Given the description of an element on the screen output the (x, y) to click on. 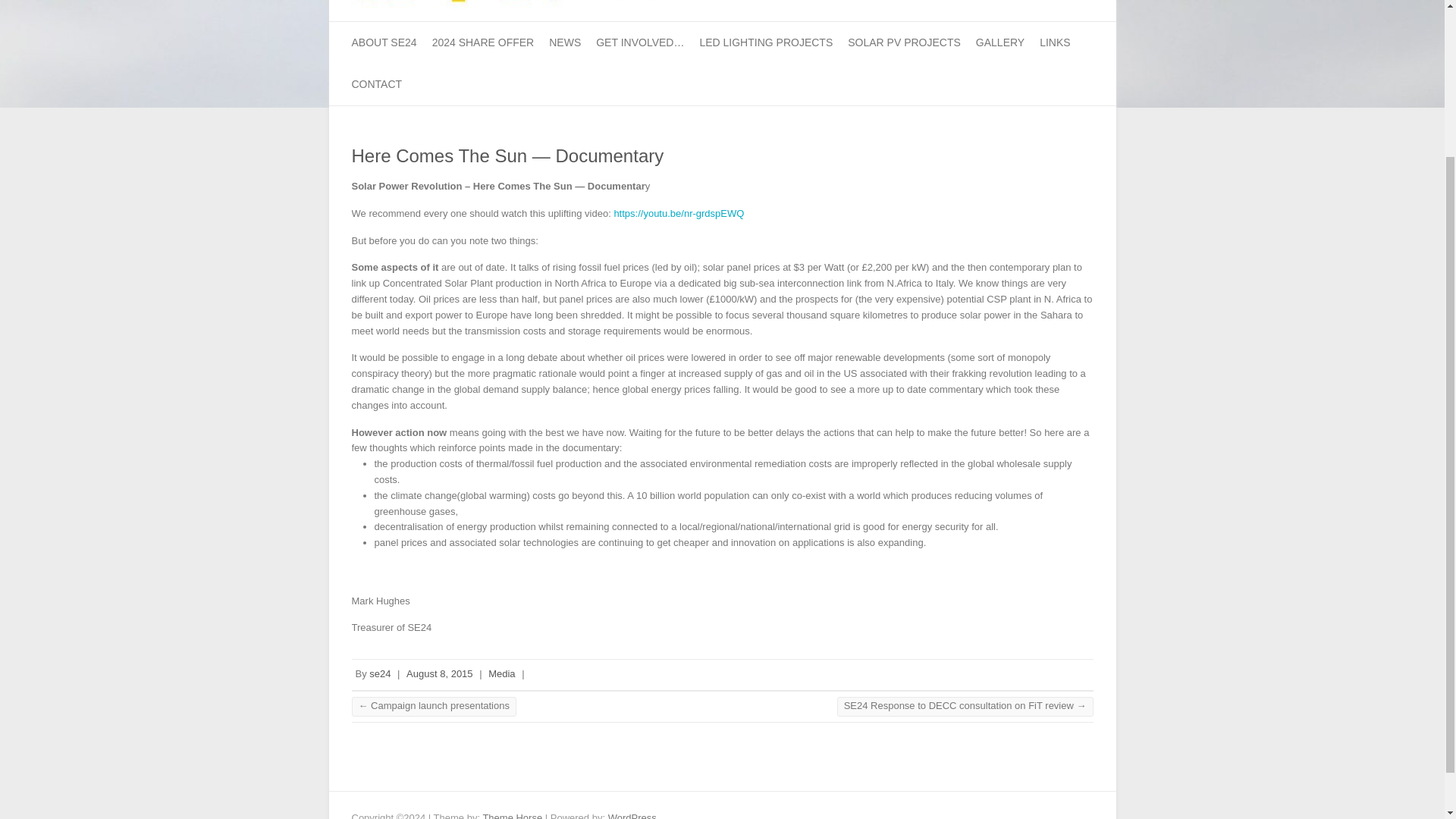
SOLAR PV PROJECTS (903, 42)
CONTACT (377, 84)
GALLERY (1000, 42)
2024 SHARE OFFER (483, 42)
4:46 pm (438, 673)
ABOUT SE24 (384, 42)
se24 (379, 673)
August 8, 2015 (438, 673)
Media (501, 673)
LED LIGHTING PROJECTS (765, 42)
